Given the description of an element on the screen output the (x, y) to click on. 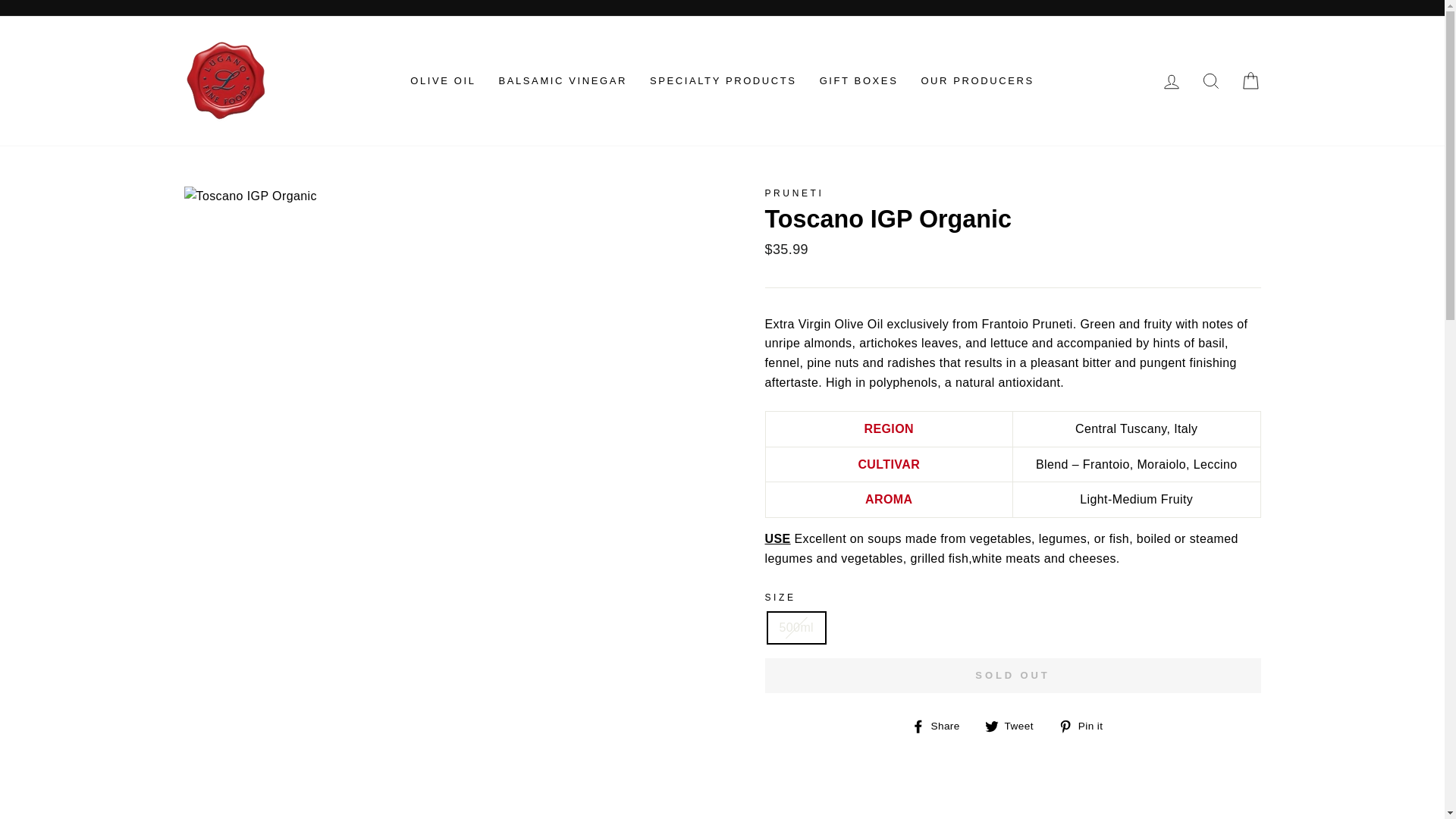
Pin on Pinterest (1085, 725)
SEARCH (1210, 81)
SPECIALTY PRODUCTS (723, 81)
GIFT BOXES (859, 81)
BALSAMIC VINEGAR (561, 81)
LOG IN (1171, 81)
OLIVE OIL (442, 81)
Share on Facebook (941, 725)
